Given the description of an element on the screen output the (x, y) to click on. 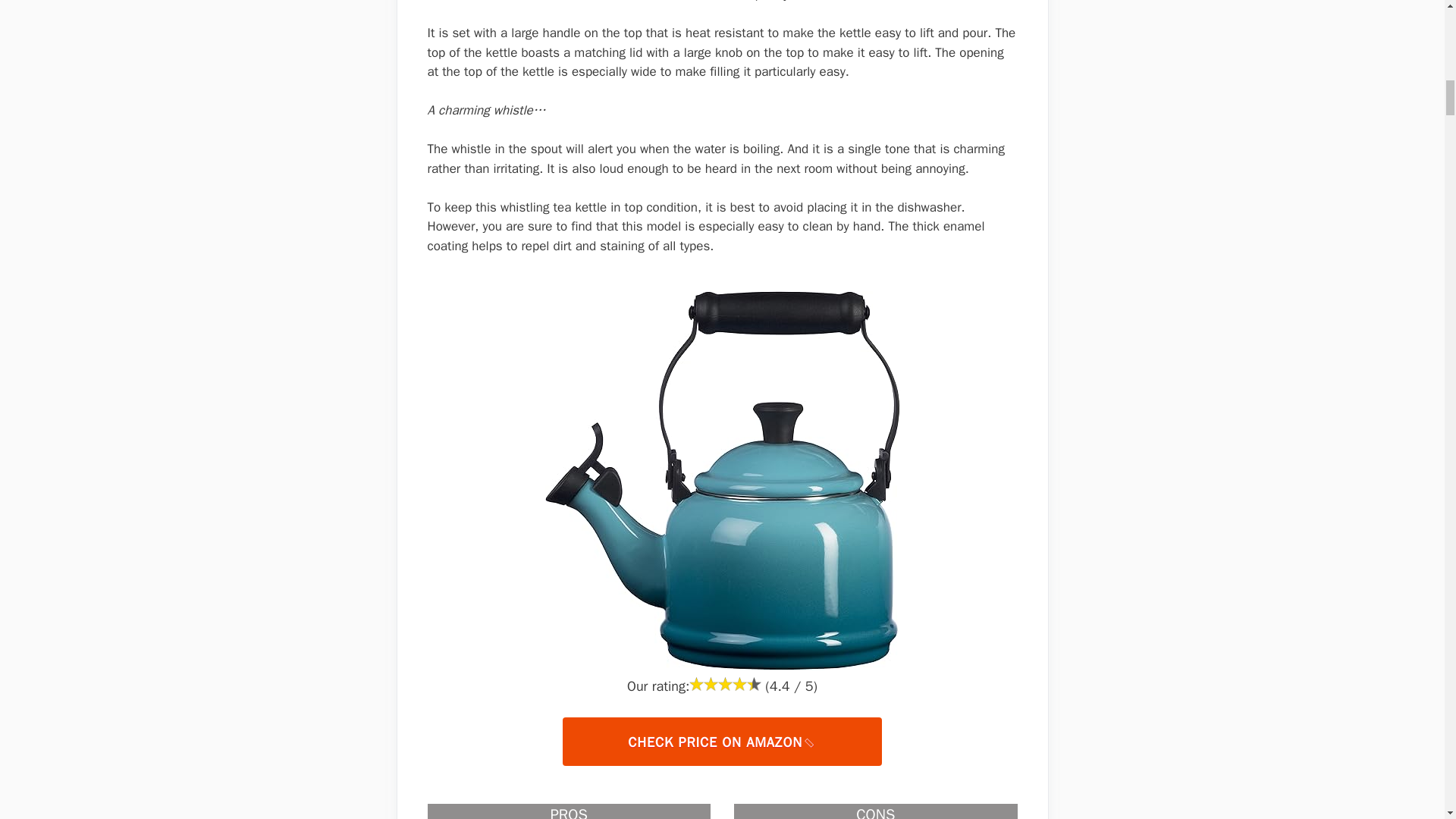
CHECK PRICE ON AMAZON (721, 740)
